Given the description of an element on the screen output the (x, y) to click on. 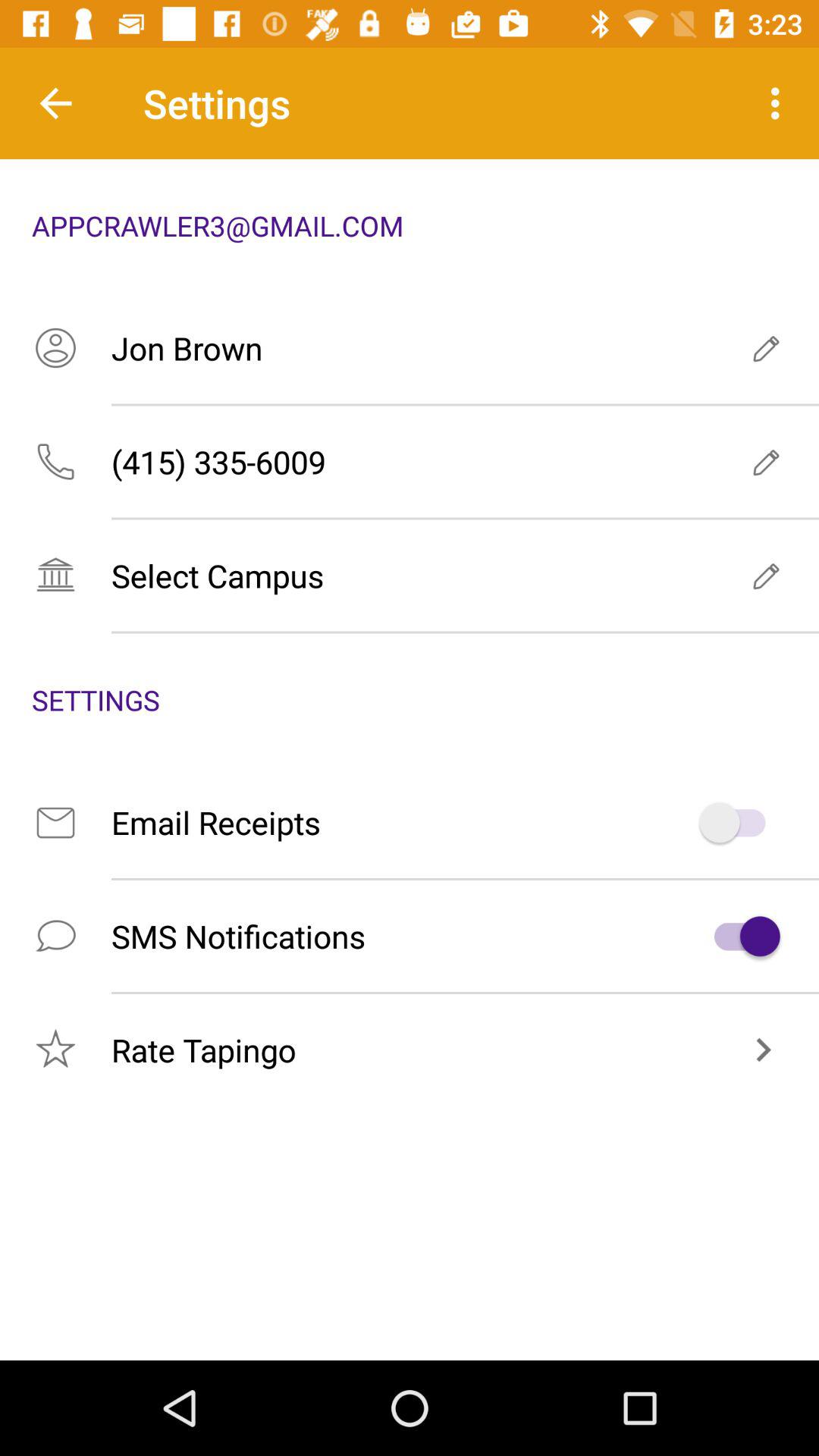
choose the item to the right of the settings (779, 103)
